Given the description of an element on the screen output the (x, y) to click on. 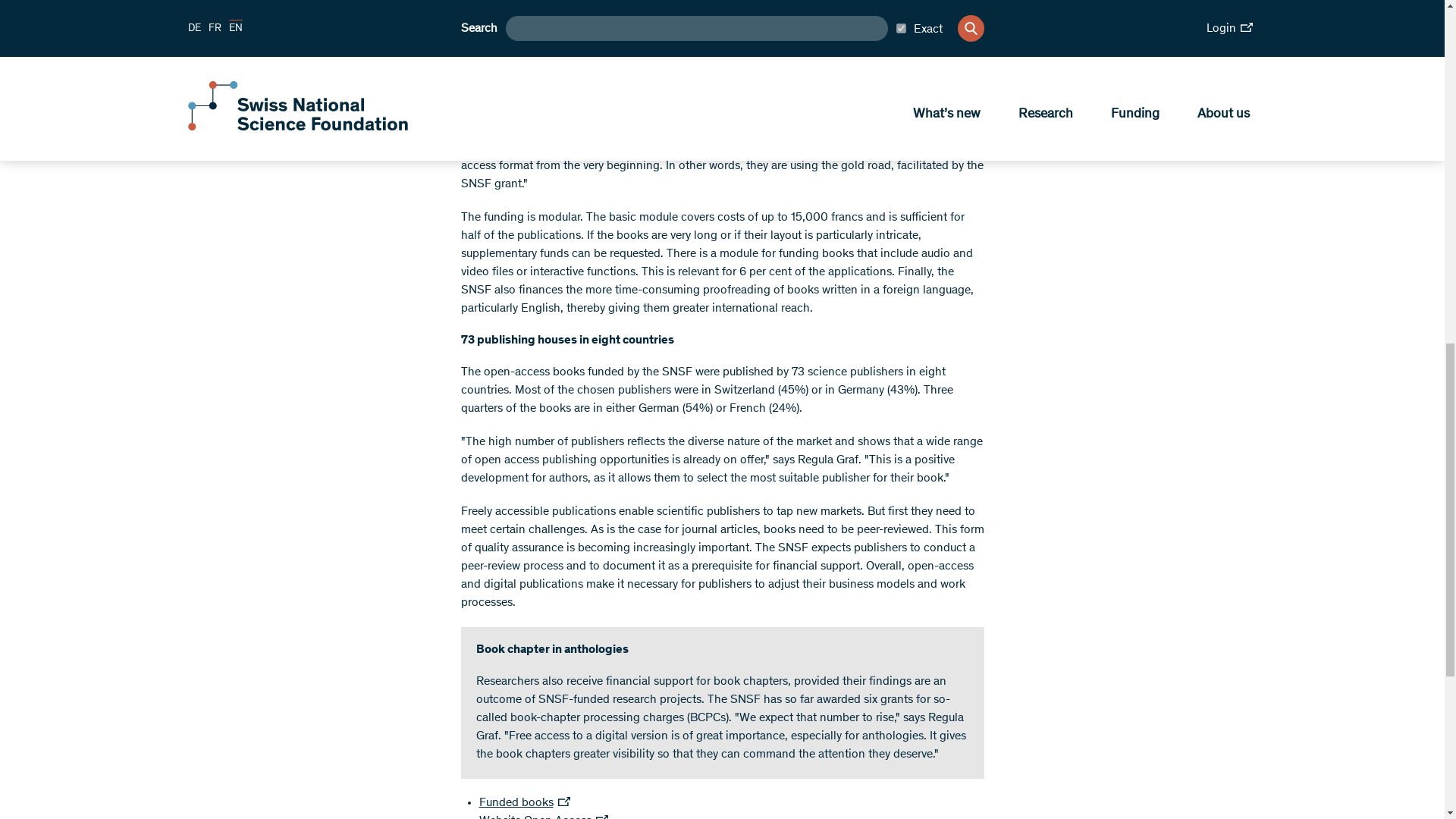
External Link Icon (563, 801)
External Link Icon (601, 816)
